Given the description of an element on the screen output the (x, y) to click on. 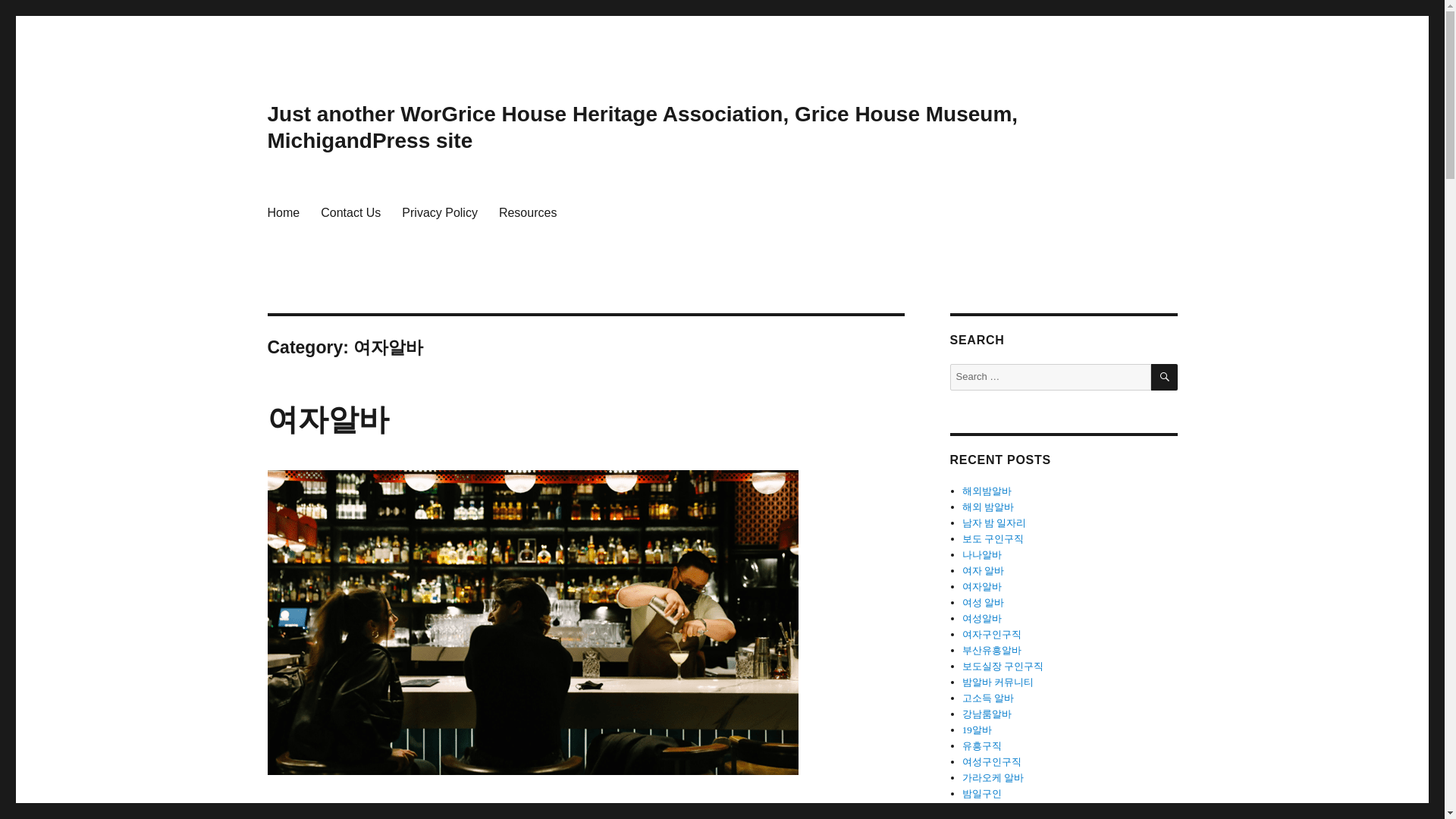
August 14, 2023 (302, 814)
Contact Us (350, 212)
Resources (527, 212)
Privacy Policy (439, 212)
SEARCH (1164, 376)
Home (283, 212)
